Given the description of an element on the screen output the (x, y) to click on. 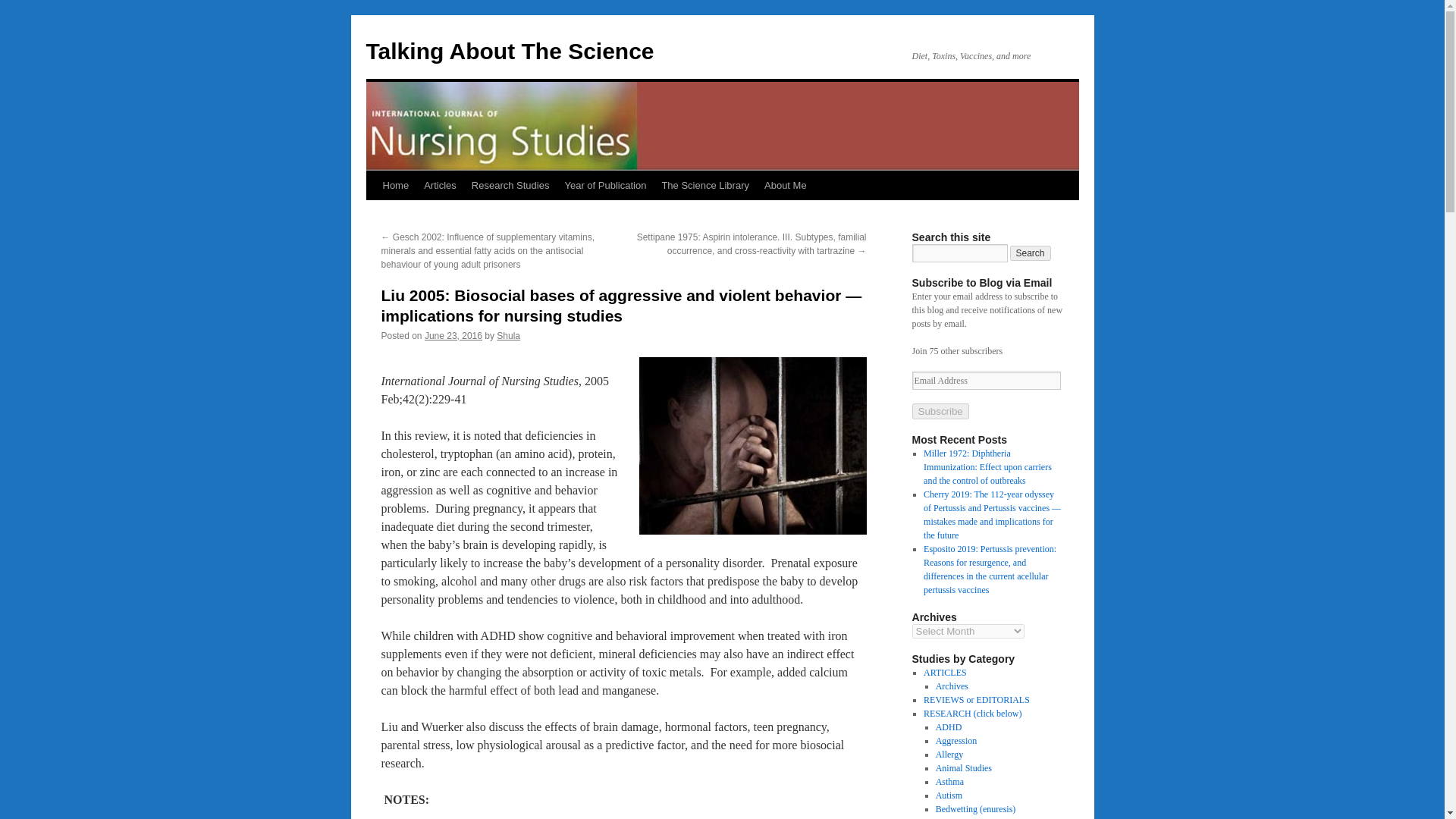
Home (395, 185)
June 23, 2016 (453, 335)
Research Studies (510, 185)
Search (1030, 253)
The Science Library (705, 185)
Articles (440, 185)
Year of Publication (604, 185)
Talking About The Science (509, 50)
View all posts by Shula (507, 335)
Shula (507, 335)
